Given the description of an element on the screen output the (x, y) to click on. 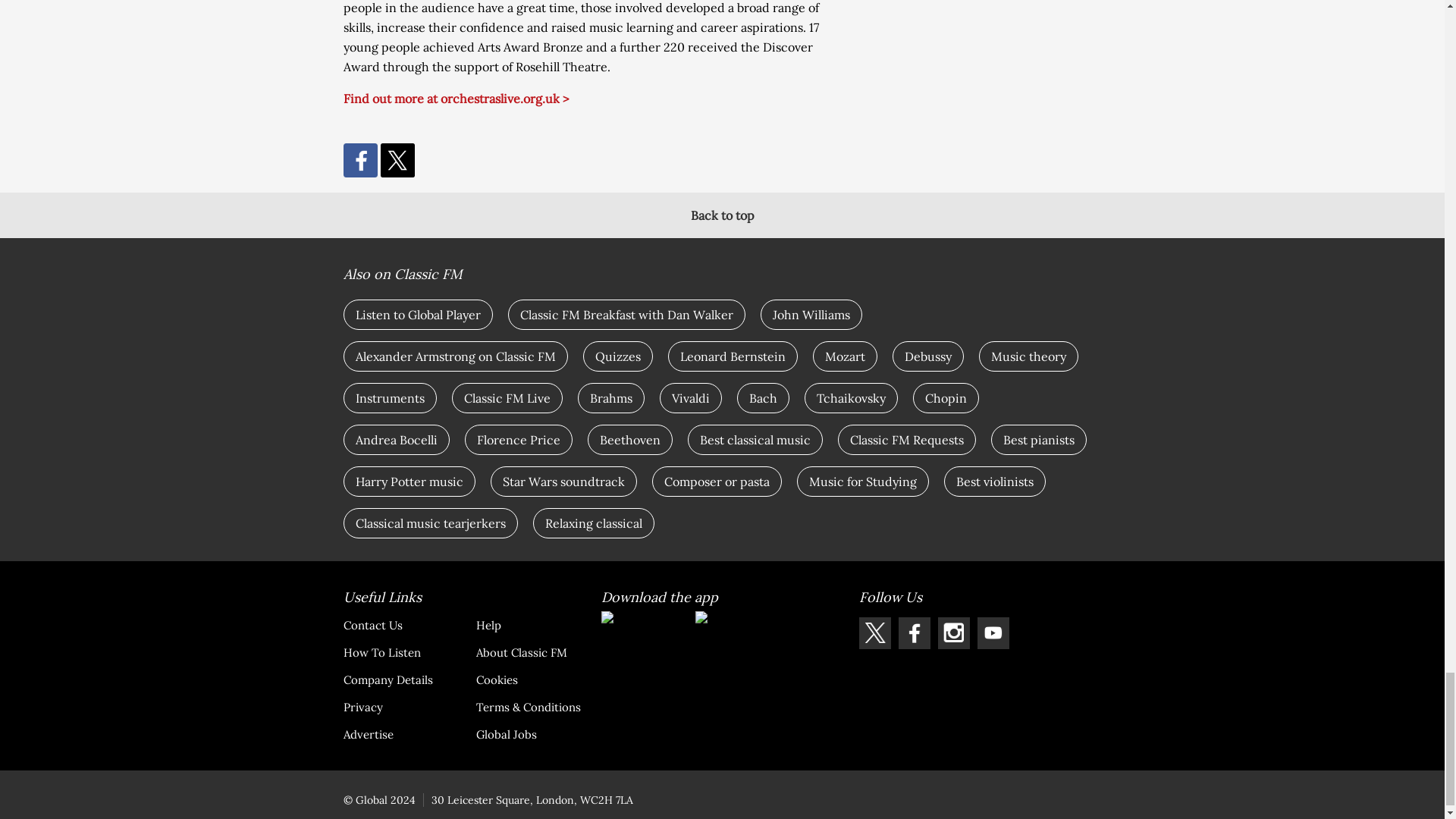
Follow Classic FM on Facebook (914, 633)
Follow Classic FM on Instagram (953, 633)
Follow Classic FM on X (874, 633)
Back to top (722, 215)
Follow Classic FM on Youtube (992, 633)
